Given the description of an element on the screen output the (x, y) to click on. 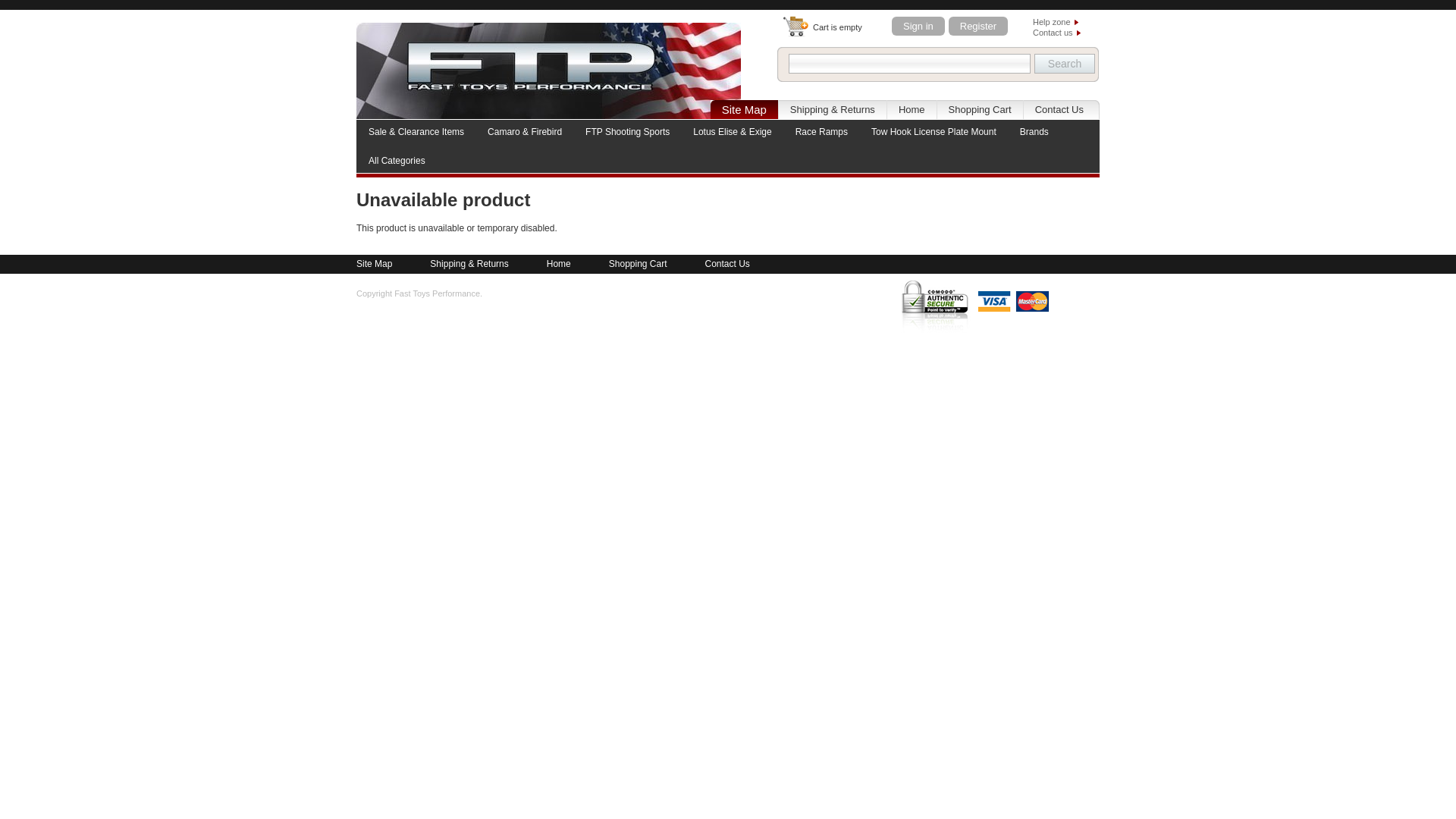
Sign in (917, 26)
Register (978, 26)
Fast Toys Performance (548, 70)
Brands (1034, 131)
FTP Shooting Sports (627, 131)
Brands (1034, 131)
Search (1063, 63)
Search (1063, 63)
Tow Hook License Plate Mount (933, 131)
Race Ramps (821, 131)
